Given the description of an element on the screen output the (x, y) to click on. 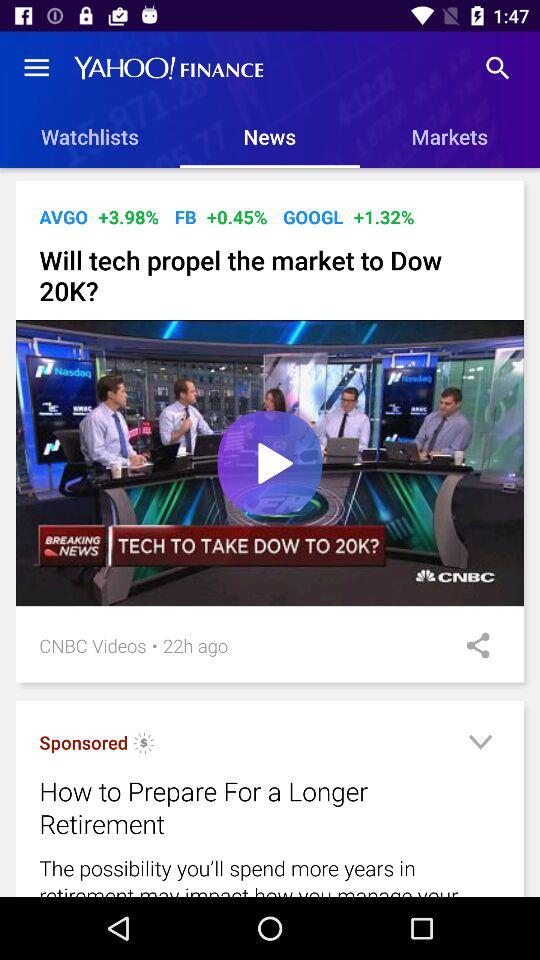
open the icon to the right of the googl (383, 216)
